Given the description of an element on the screen output the (x, y) to click on. 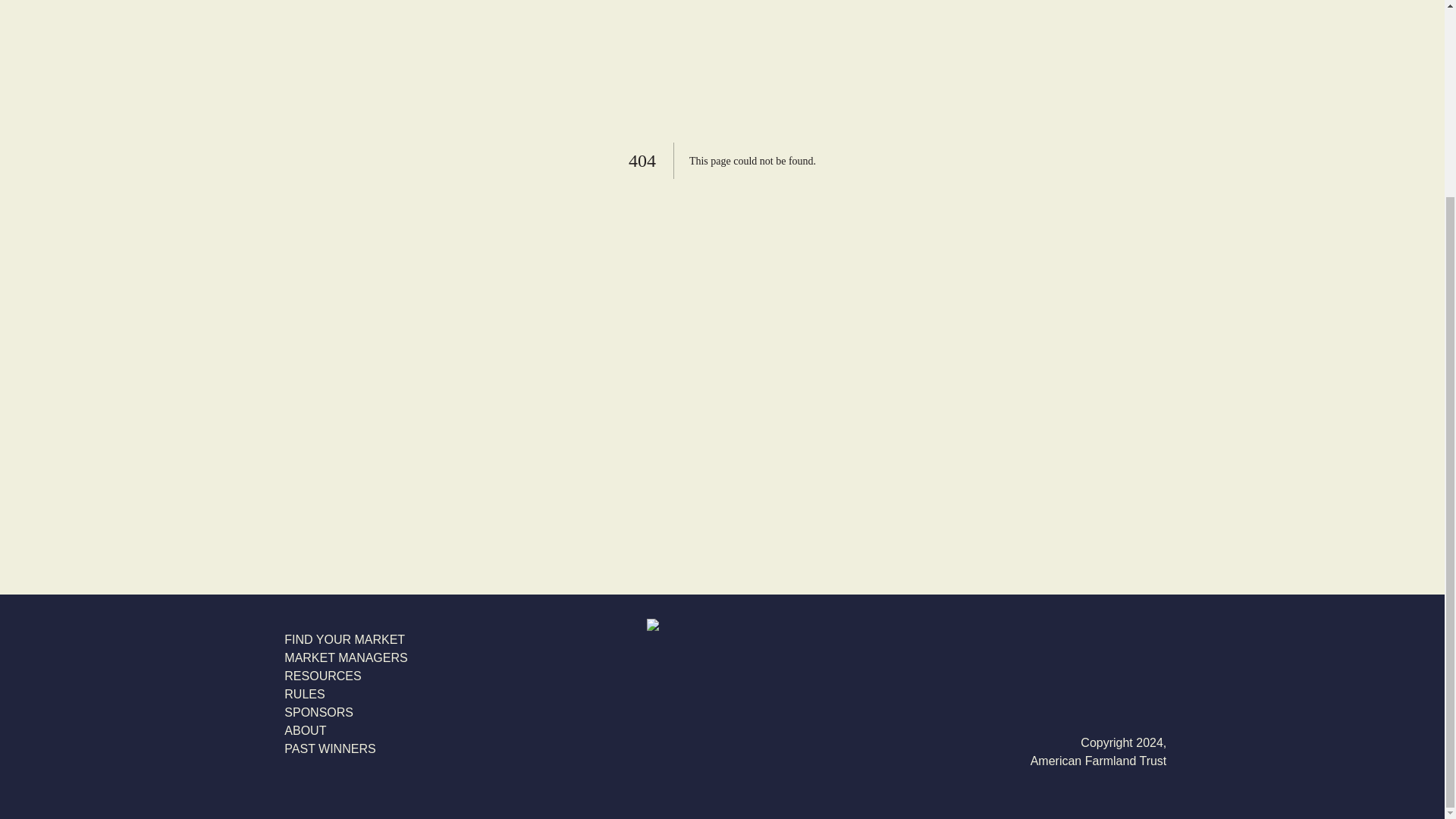
RULES (345, 694)
SPONSORS (345, 712)
MARKET MANAGERS (345, 658)
RESOURCES (345, 676)
ABOUT (345, 730)
PAST WINNERS (345, 749)
FIND YOUR MARKET (345, 639)
